Given the description of an element on the screen output the (x, y) to click on. 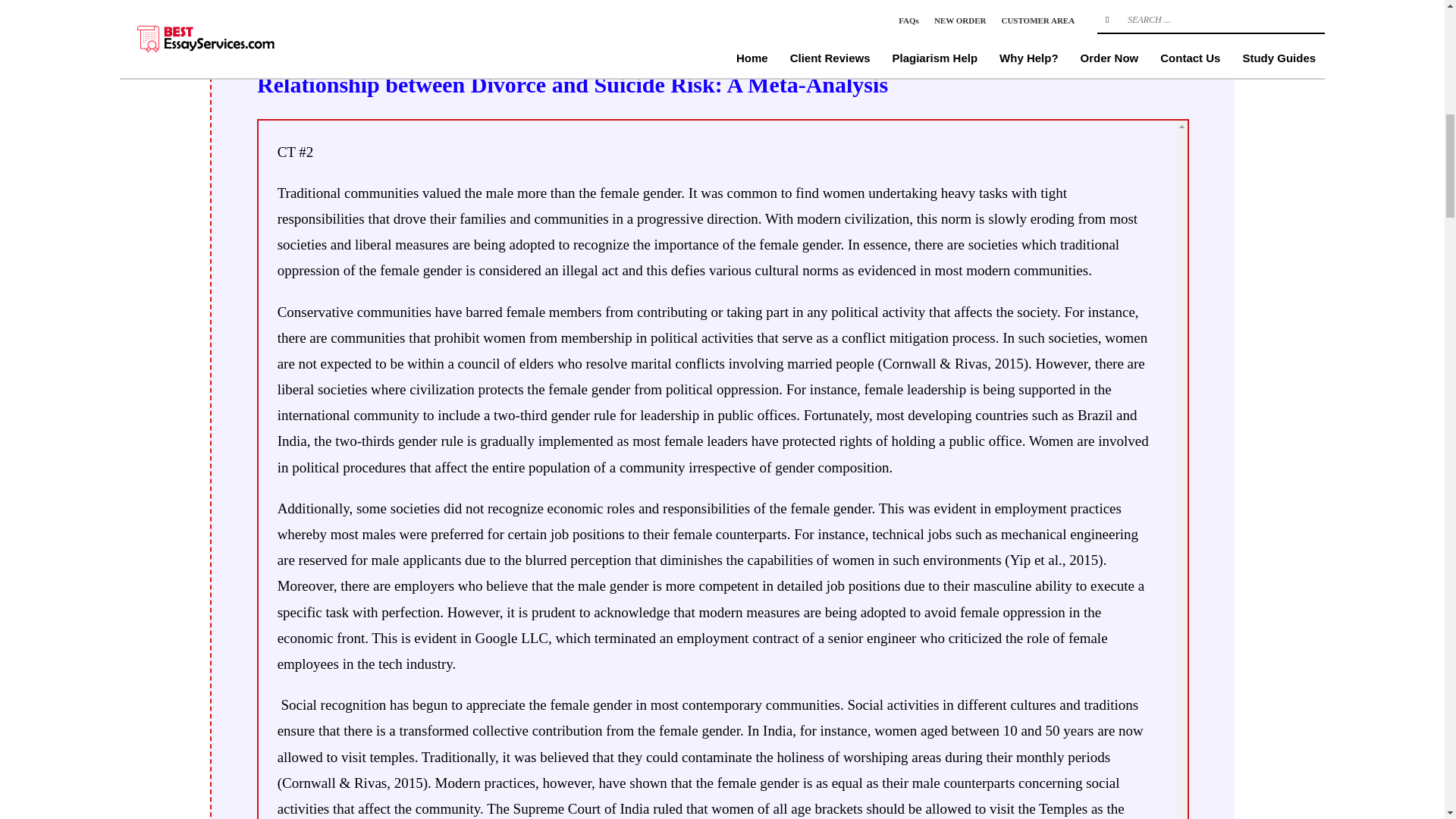
ASSIGNMENT WRITING HELP (473, 3)
